Given the description of an element on the screen output the (x, y) to click on. 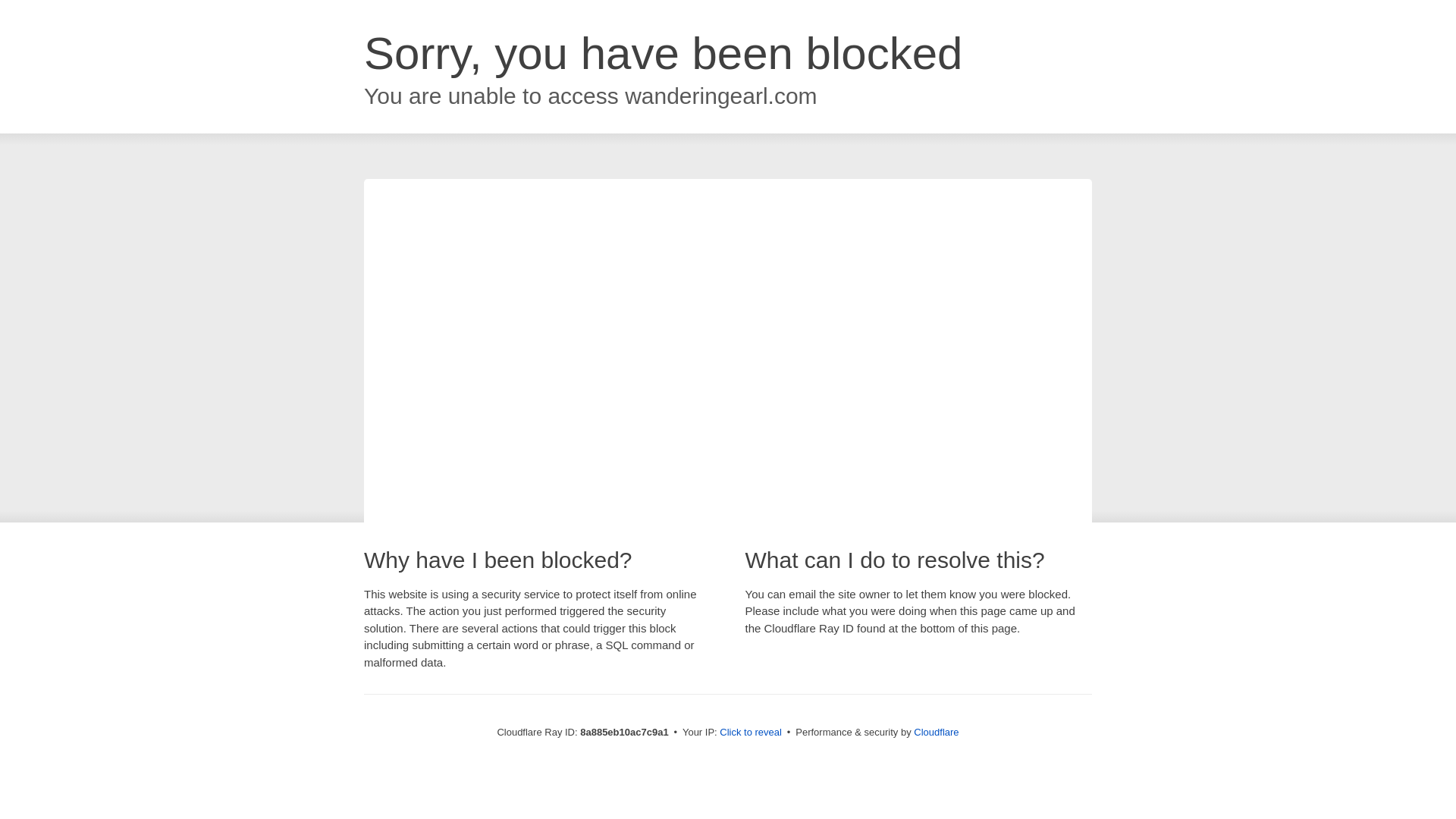
Click to reveal (750, 732)
Cloudflare (936, 731)
